Given the description of an element on the screen output the (x, y) to click on. 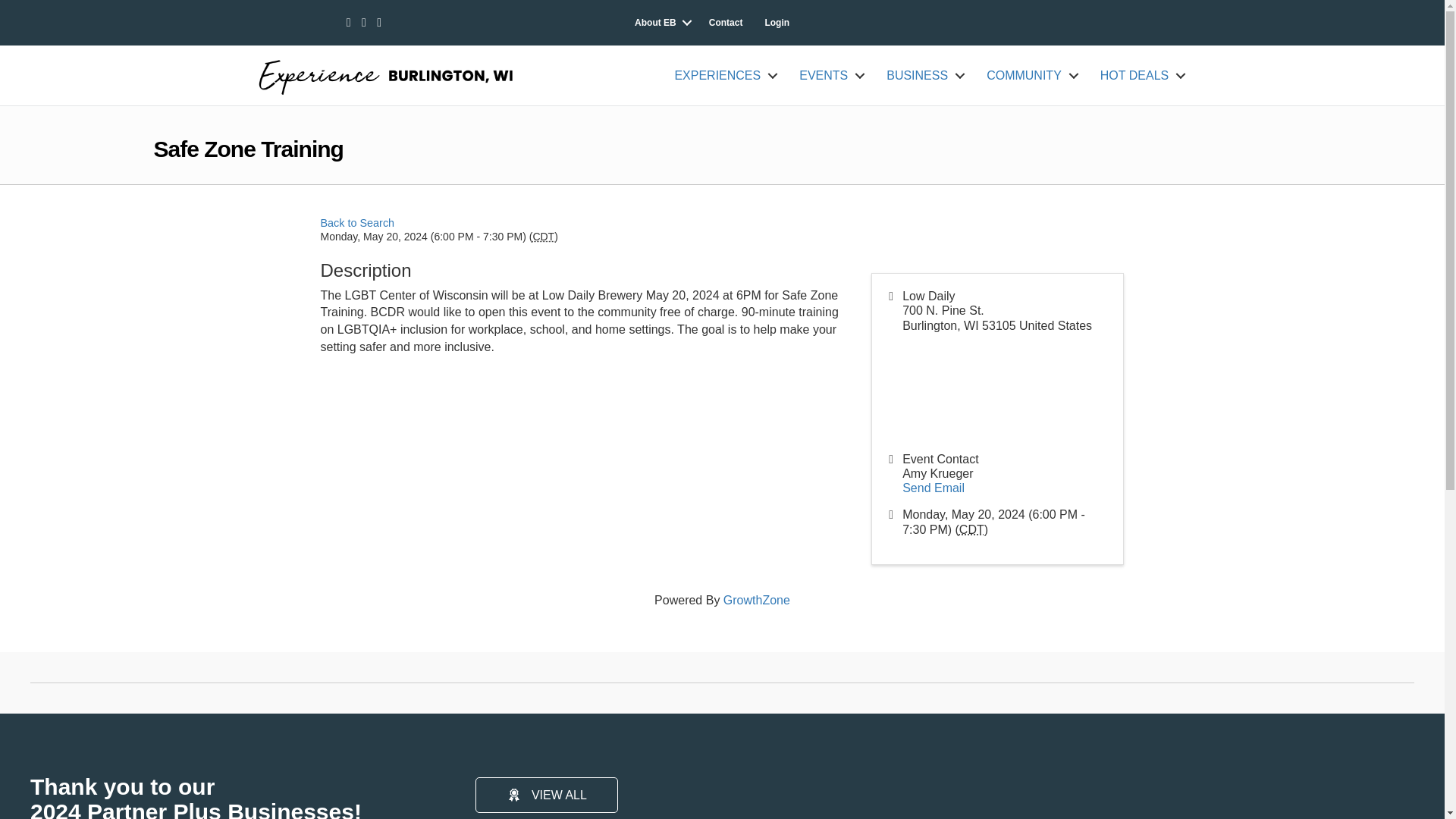
About EB (660, 22)
Login (776, 22)
final retina png.001 (408, 74)
EVENTS (829, 75)
COMMUNITY (1029, 75)
BUSINESS (922, 75)
Send Email (932, 487)
EXPERIENCES (722, 75)
Contact (726, 22)
